Given the description of an element on the screen output the (x, y) to click on. 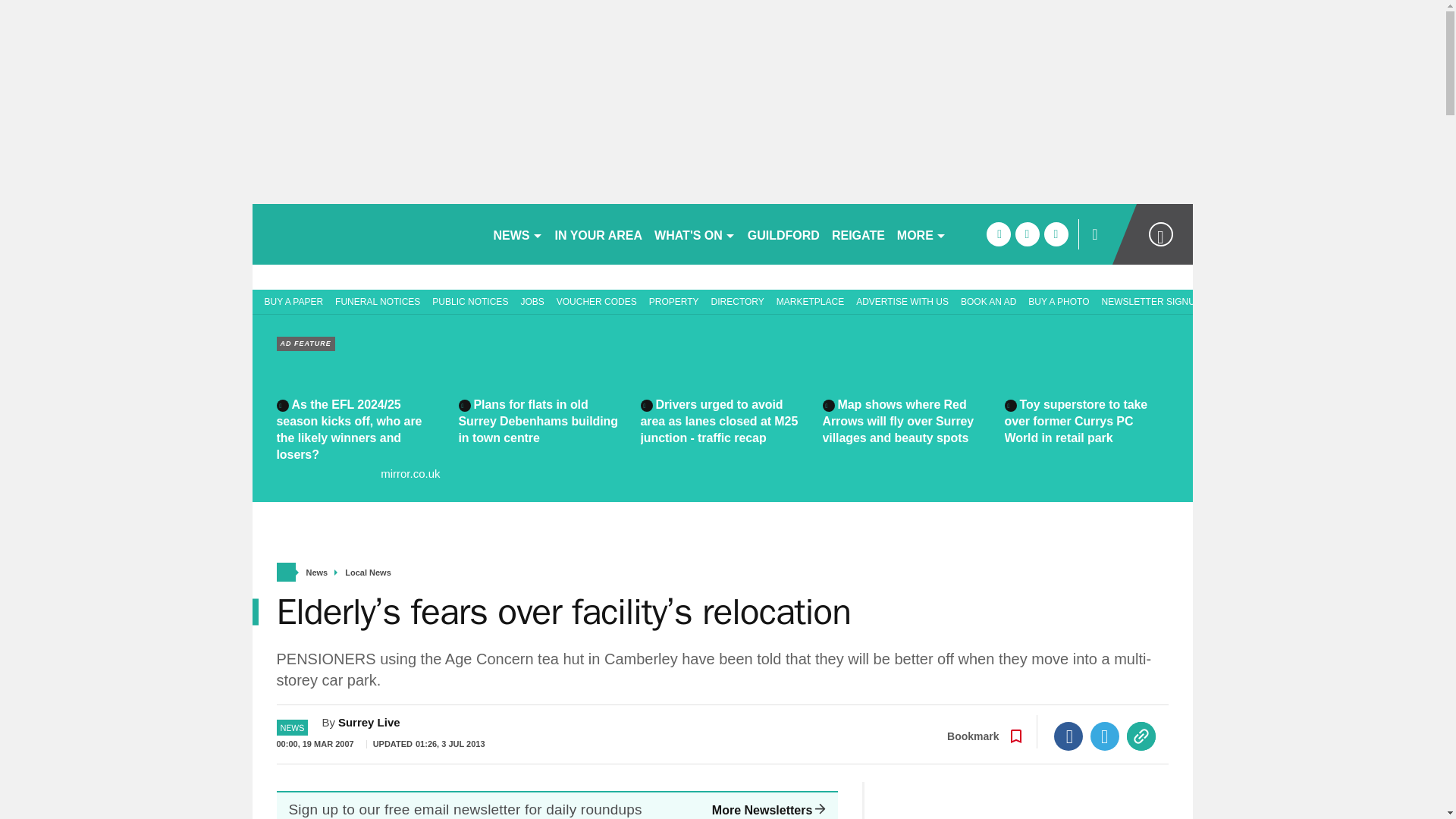
IN YOUR AREA (598, 233)
REIGATE (858, 233)
GUILDFORD (783, 233)
BUY A PAPER (290, 300)
Twitter (1104, 736)
JOBS (531, 300)
FUNERAL NOTICES (377, 300)
NEWS (517, 233)
PROPERTY (673, 300)
WHAT'S ON (694, 233)
